Given the description of an element on the screen output the (x, y) to click on. 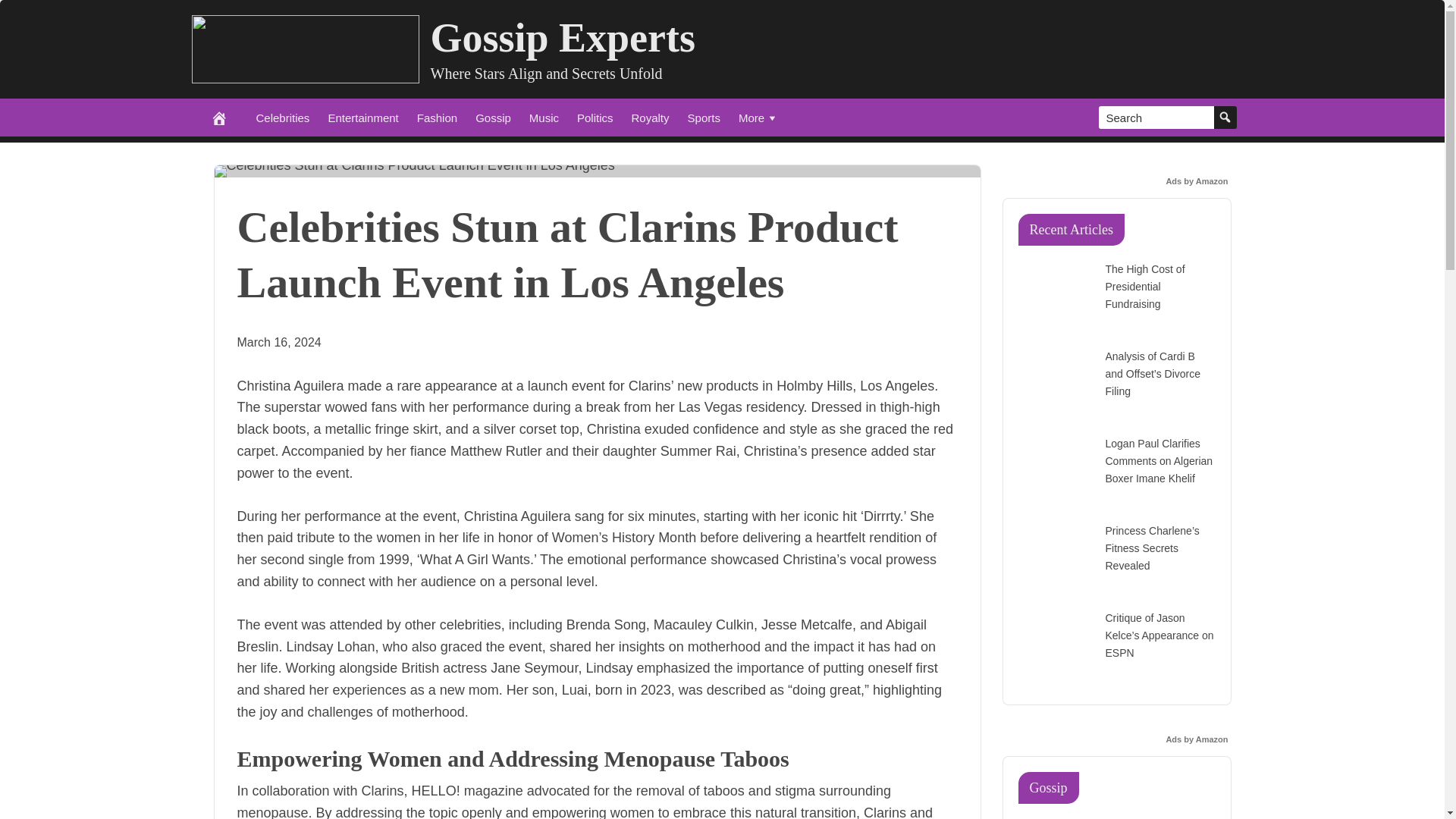
Politics (595, 117)
More (758, 117)
Gossip Experts (562, 37)
Celebrities (282, 117)
Gossip (492, 117)
Sports (703, 117)
Royalty (650, 117)
Music (543, 117)
Entertainment (362, 117)
Fashion (436, 117)
